Given the description of an element on the screen output the (x, y) to click on. 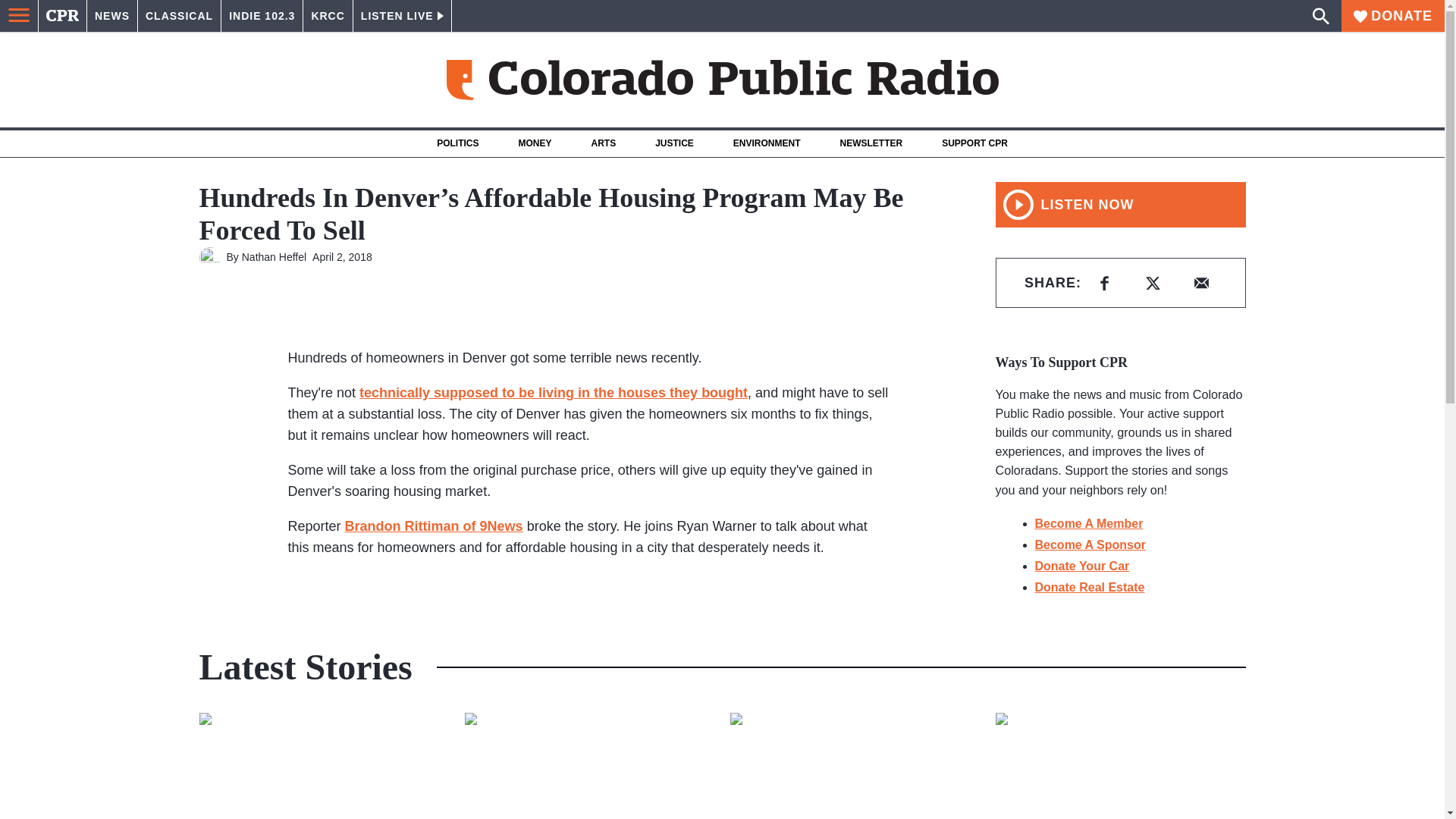
KRCC (327, 15)
LISTEN LIVE (402, 15)
NEWS (111, 15)
INDIE 102.3 (261, 15)
CLASSICAL (179, 15)
